Given the description of an element on the screen output the (x, y) to click on. 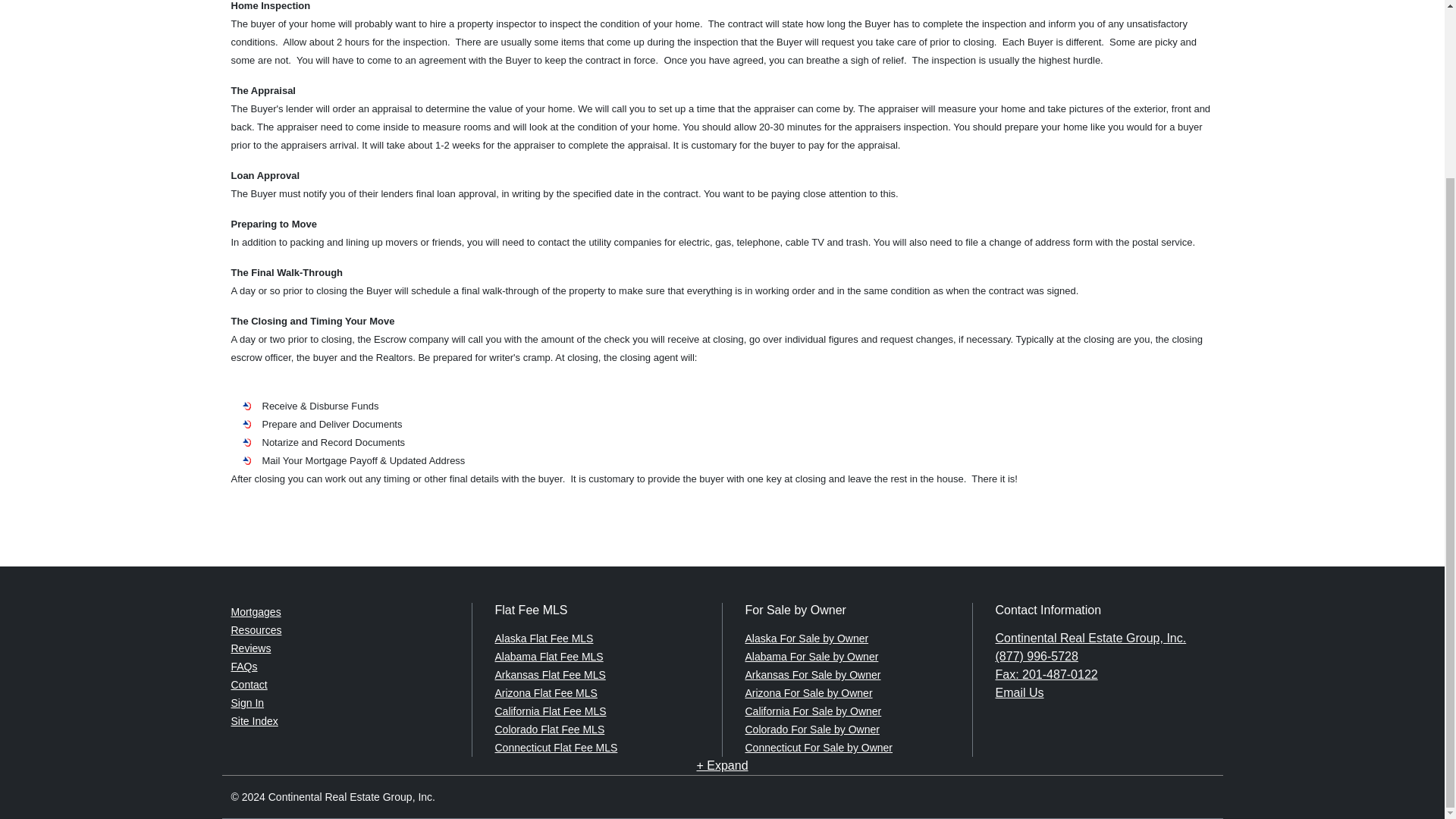
Reviews (250, 648)
Mortgages (255, 612)
Alaska Flat Fee MLS (543, 638)
Arkansas Flat Fee MLS (550, 674)
Alabama Flat Fee MLS (548, 656)
Sign In (246, 702)
FAQs (243, 666)
Site Index (254, 720)
Resources (255, 630)
Contact (248, 684)
